Given the description of an element on the screen output the (x, y) to click on. 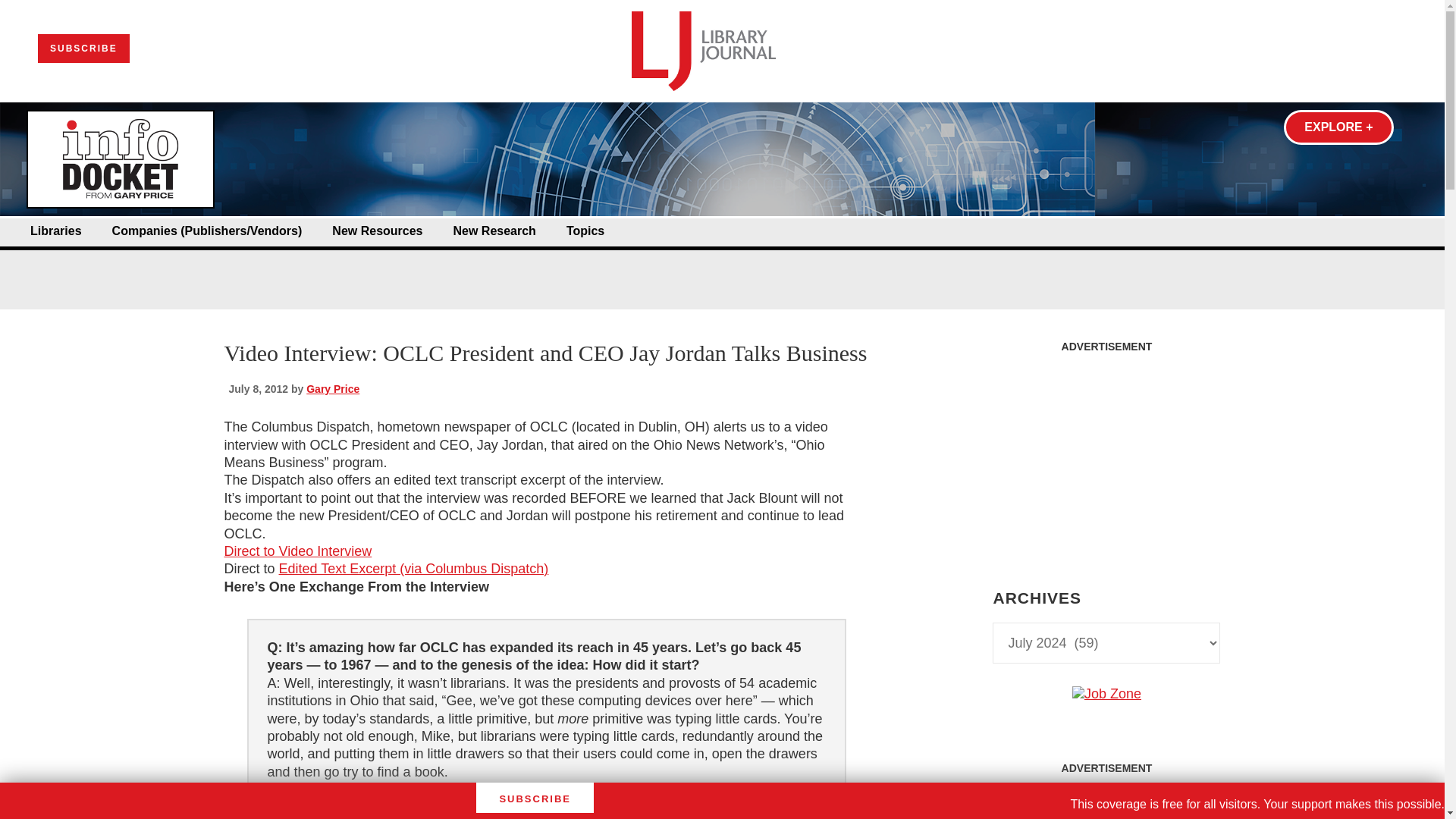
Libraries (55, 231)
3rd party ad content (1106, 455)
3rd party ad content (1106, 800)
3rd party ad content (721, 264)
SUBSCRIBE (83, 48)
New Resources (376, 231)
